Given the description of an element on the screen output the (x, y) to click on. 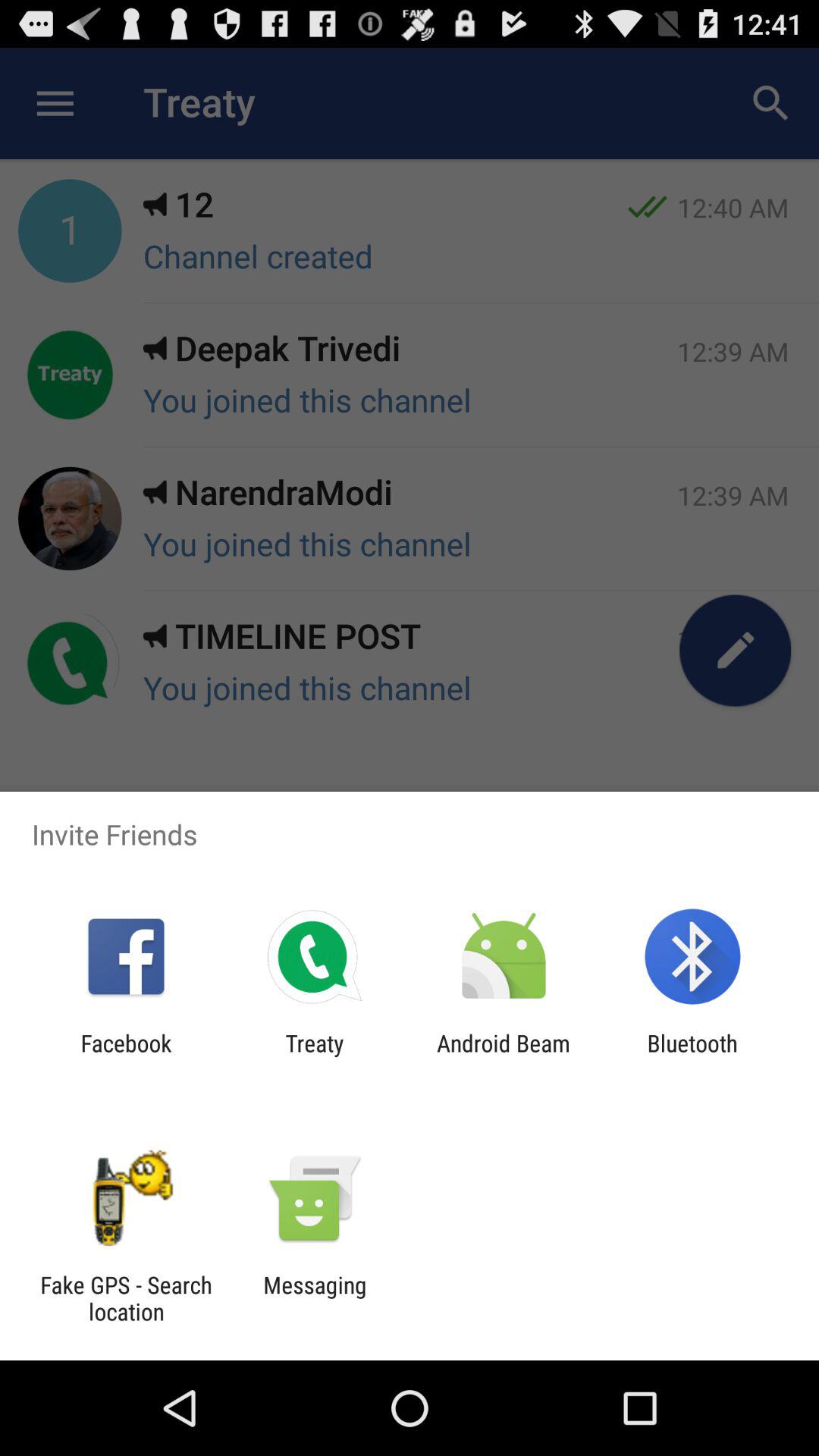
open item to the left of the treaty icon (125, 1056)
